Given the description of an element on the screen output the (x, y) to click on. 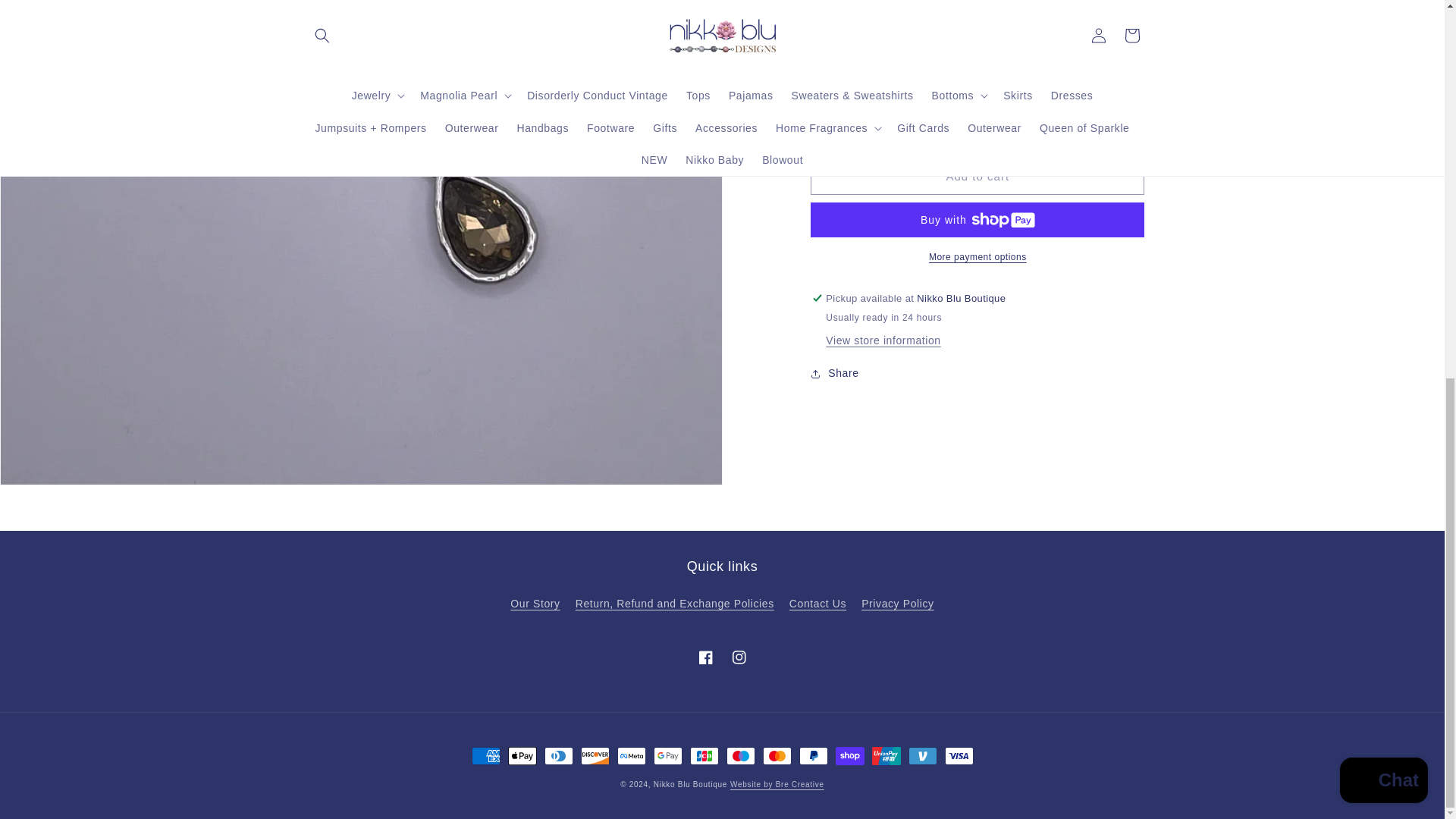
Shopify online store chat (1383, 82)
1 (864, 121)
